Given the description of an element on the screen output the (x, y) to click on. 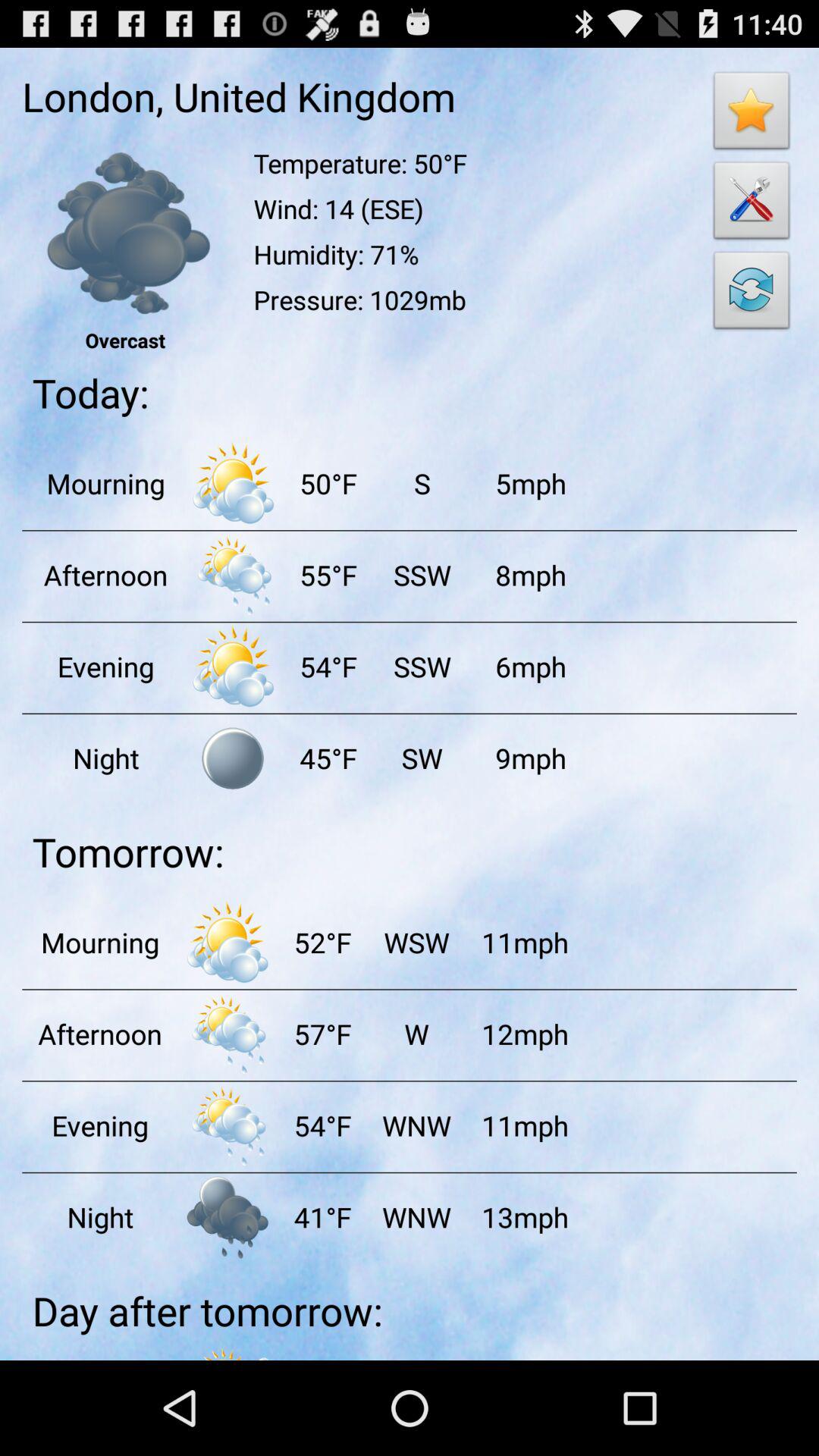
weather (232, 666)
